Given the description of an element on the screen output the (x, y) to click on. 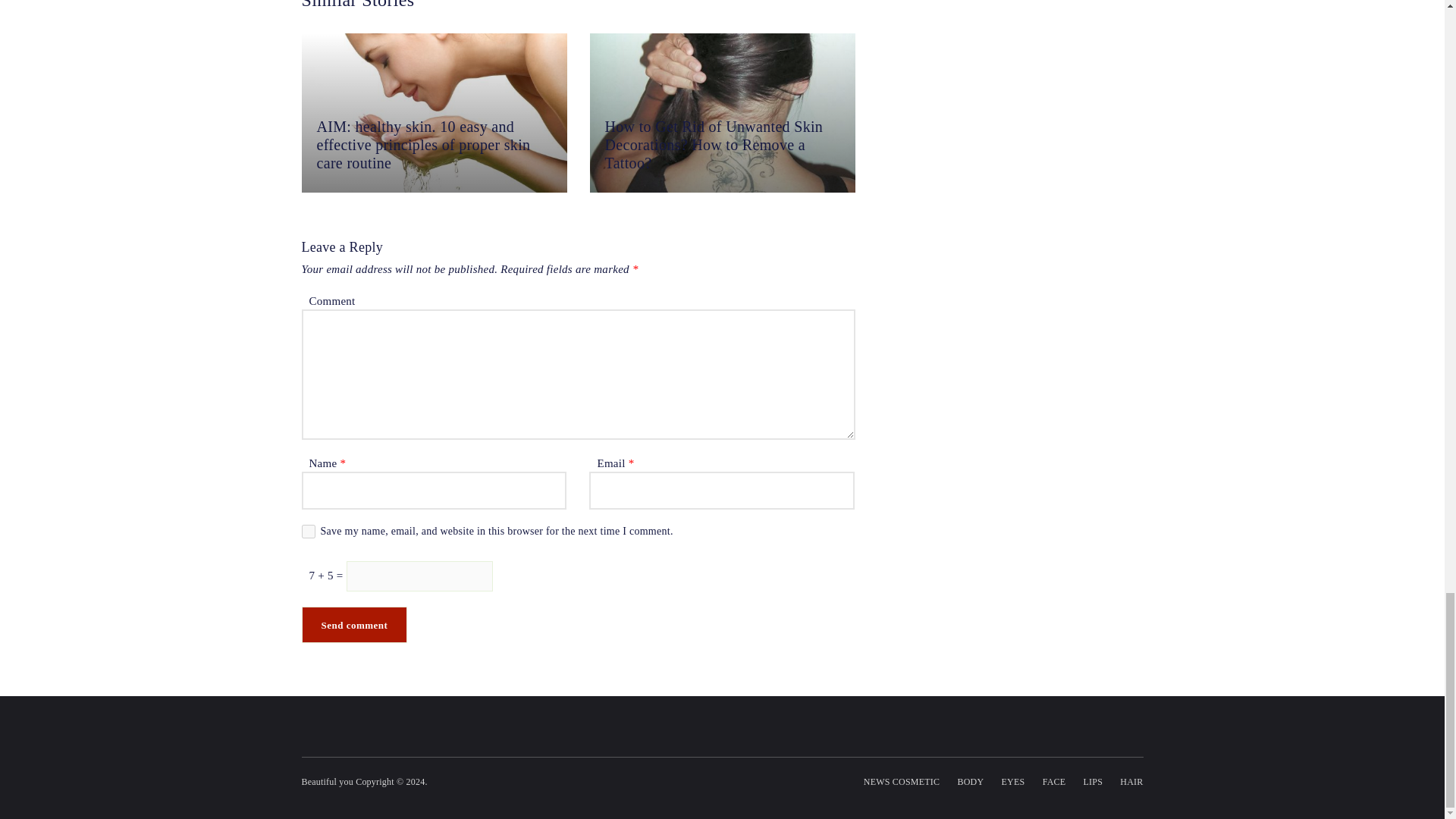
Send comment (354, 624)
Send comment (354, 624)
yes (308, 531)
